Given the description of an element on the screen output the (x, y) to click on. 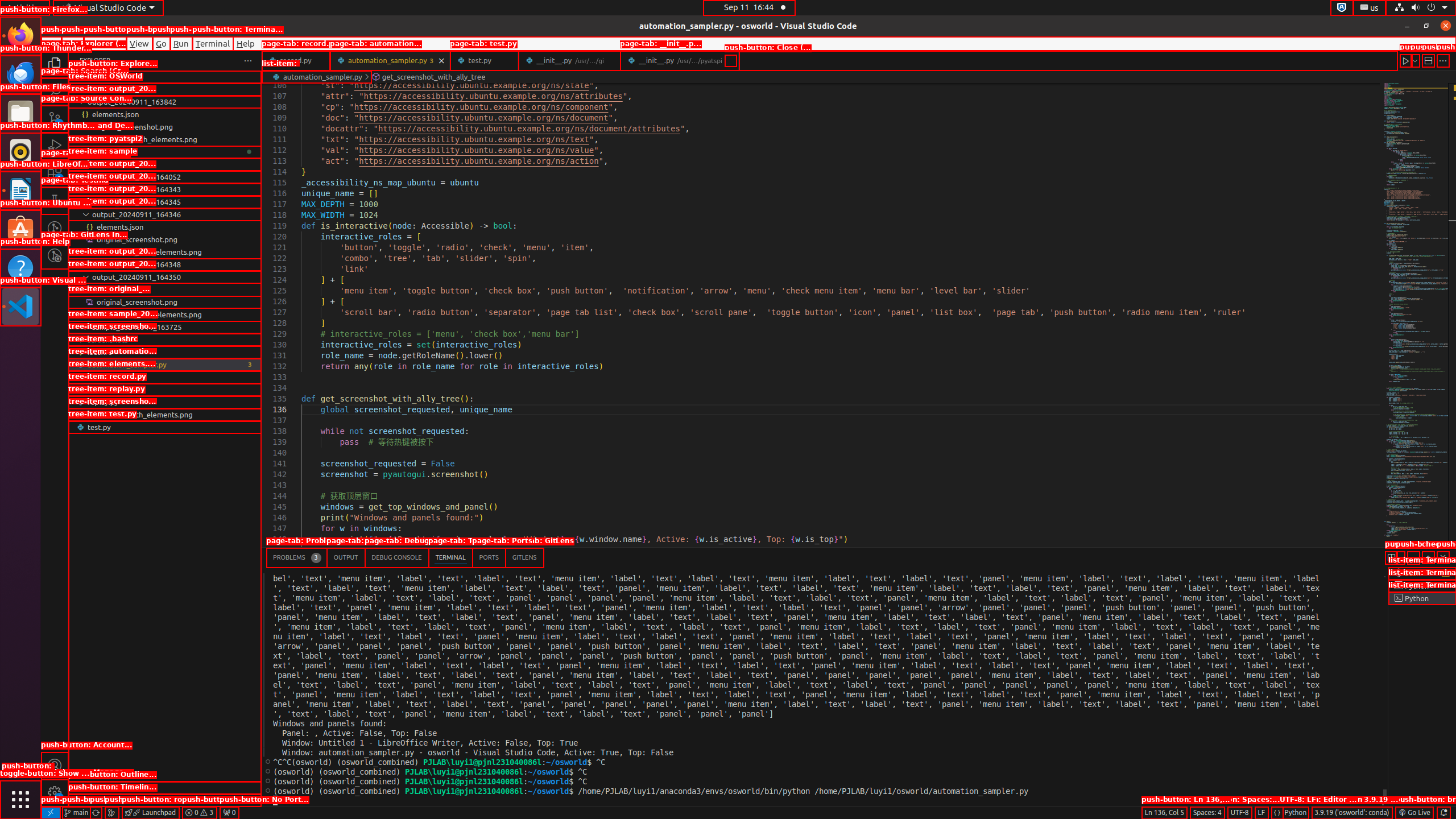
Debug Console (Ctrl+Shift+Y) Element type: page-tab (396, 557)
Maximize Panel Size Element type: check-box (1427, 557)
test.py Element type: page-tab (483, 60)
